Given the description of an element on the screen output the (x, y) to click on. 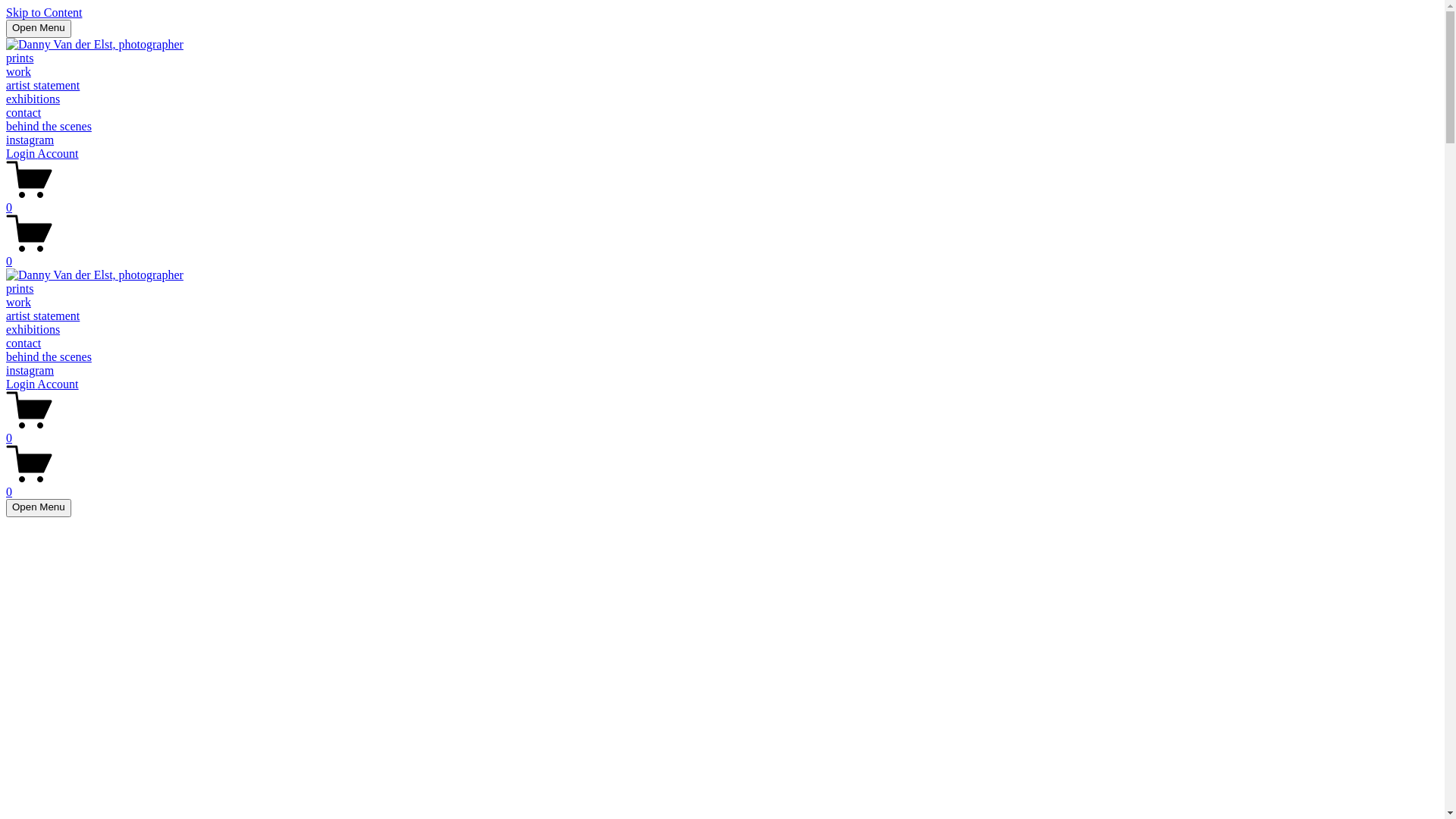
0 Element type: text (722, 431)
behind the scenes Element type: text (48, 356)
Skip to Content Element type: text (43, 12)
artist statement Element type: text (42, 84)
instagram Element type: text (29, 139)
prints Element type: text (19, 288)
artist statement Element type: text (42, 315)
contact Element type: text (23, 112)
behind the scenes Element type: text (48, 125)
Open Menu Element type: text (38, 507)
prints Element type: text (19, 57)
exhibitions Element type: text (32, 98)
instagram Element type: text (29, 370)
contact Element type: text (23, 342)
Open Menu Element type: text (38, 28)
work Element type: text (18, 301)
Login Account Element type: text (42, 383)
exhibitions Element type: text (32, 329)
0 Element type: text (722, 200)
work Element type: text (18, 71)
0 Element type: text (722, 484)
0 Element type: text (722, 254)
Login Account Element type: text (42, 153)
